Given the description of an element on the screen output the (x, y) to click on. 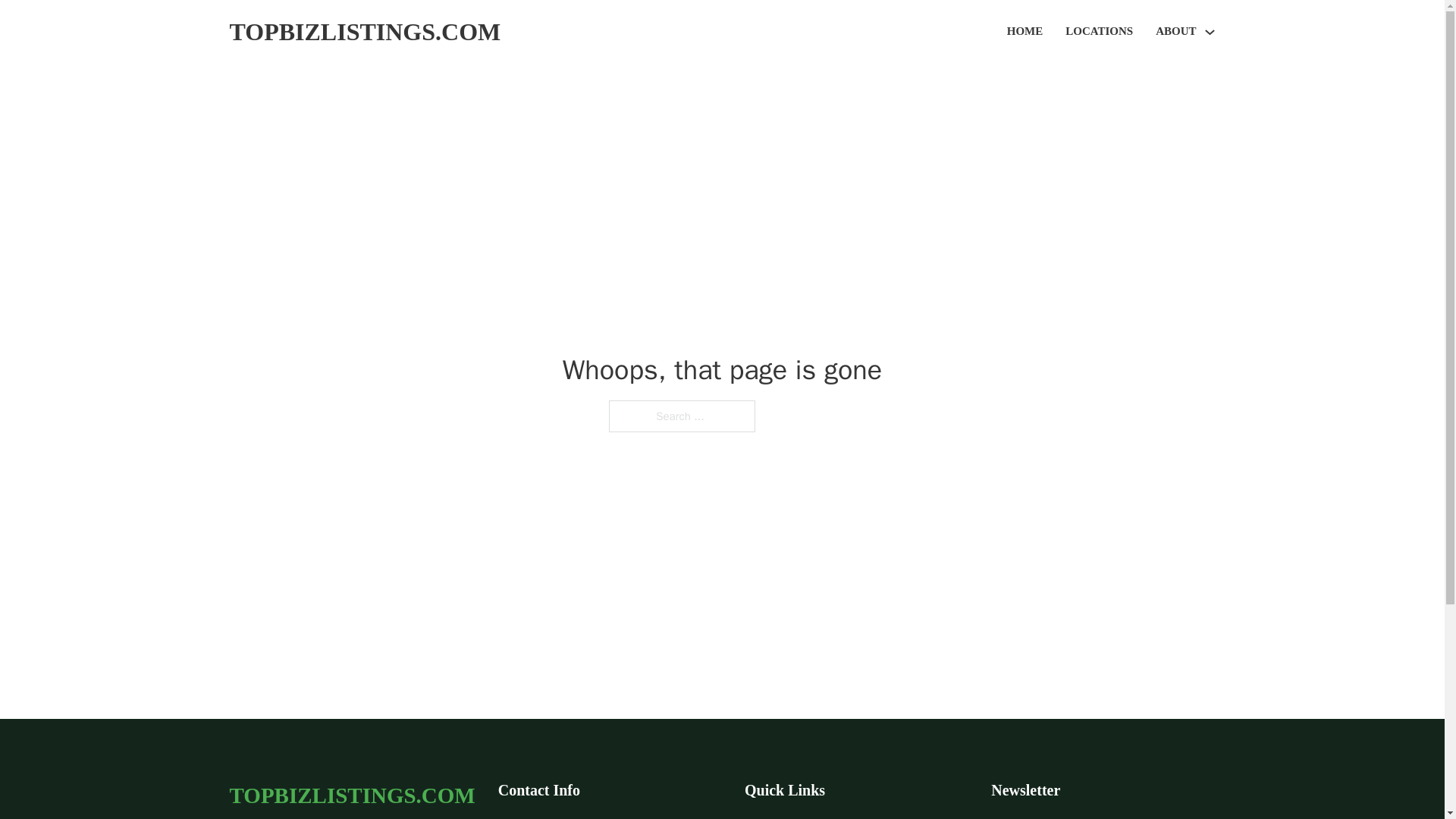
LOCATIONS (1098, 31)
HOME (1025, 31)
TOPBIZLISTINGS.COM (364, 31)
TOPBIZLISTINGS.COM (351, 795)
